Given the description of an element on the screen output the (x, y) to click on. 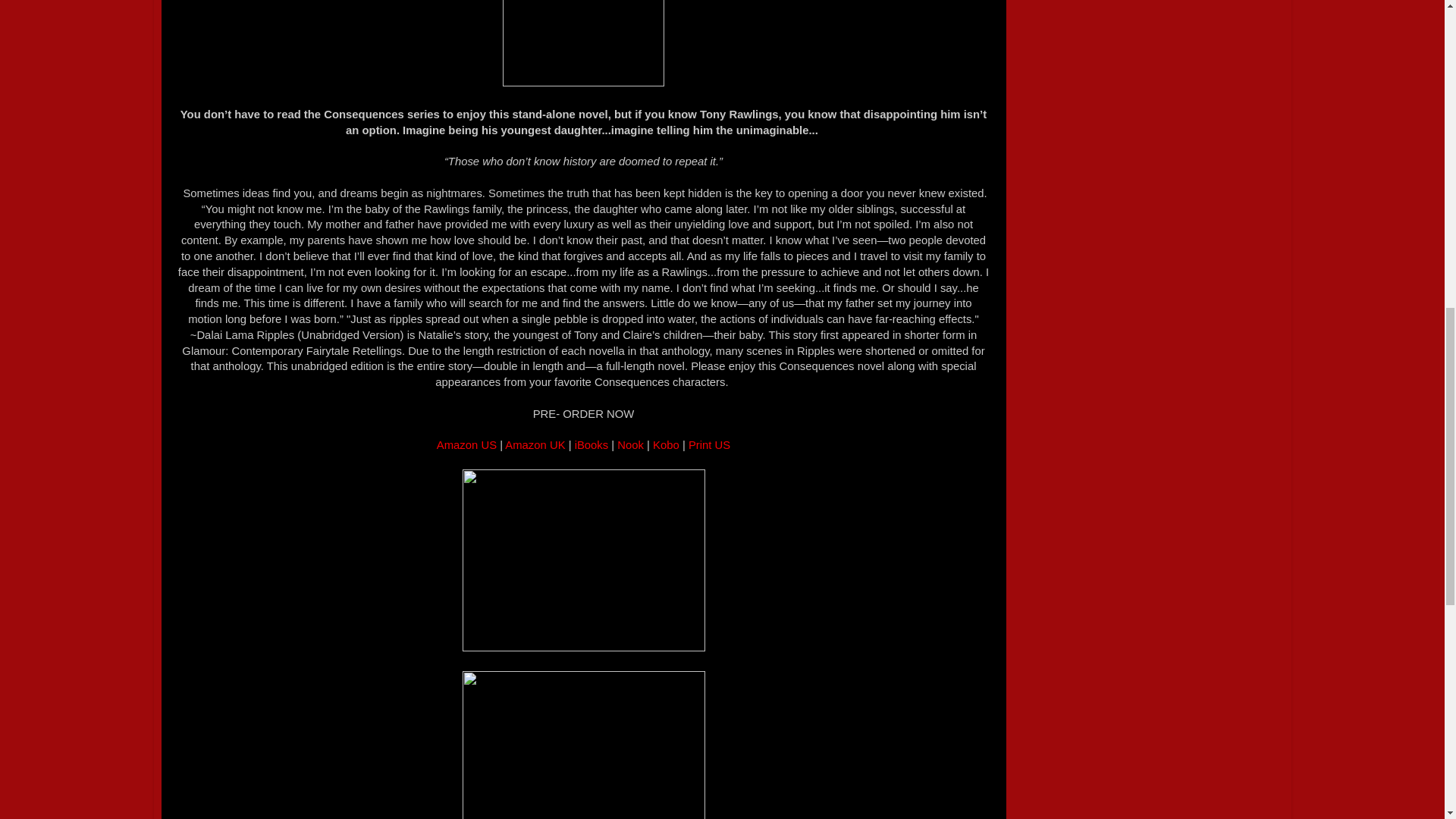
Amazon UK (534, 444)
Kobo (665, 444)
Print US (709, 444)
iBooks (591, 444)
Amazon US (467, 444)
Nook (630, 444)
